Given the description of an element on the screen output the (x, y) to click on. 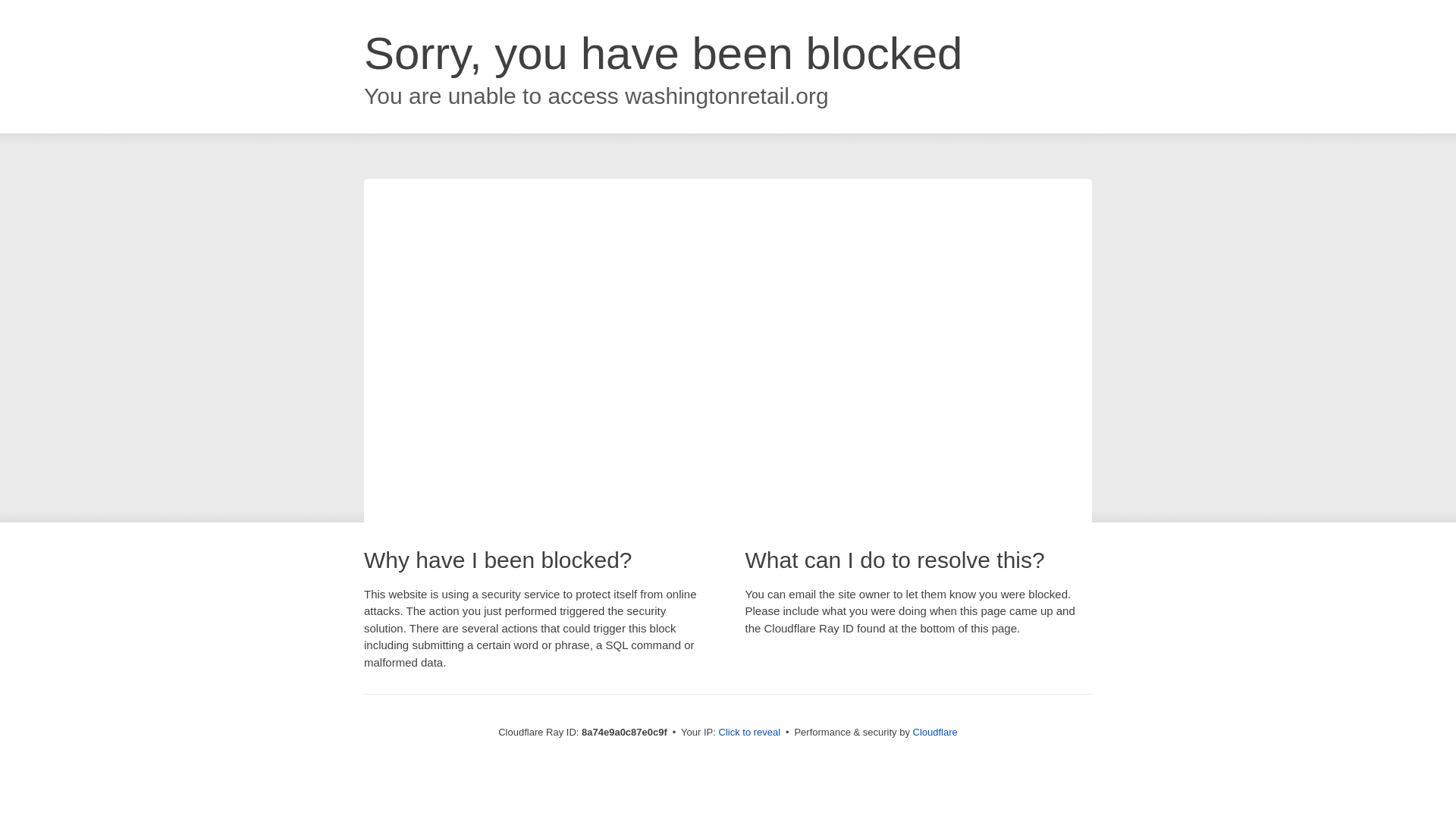
Click to reveal (749, 732)
Cloudflare (935, 731)
